Given the description of an element on the screen output the (x, y) to click on. 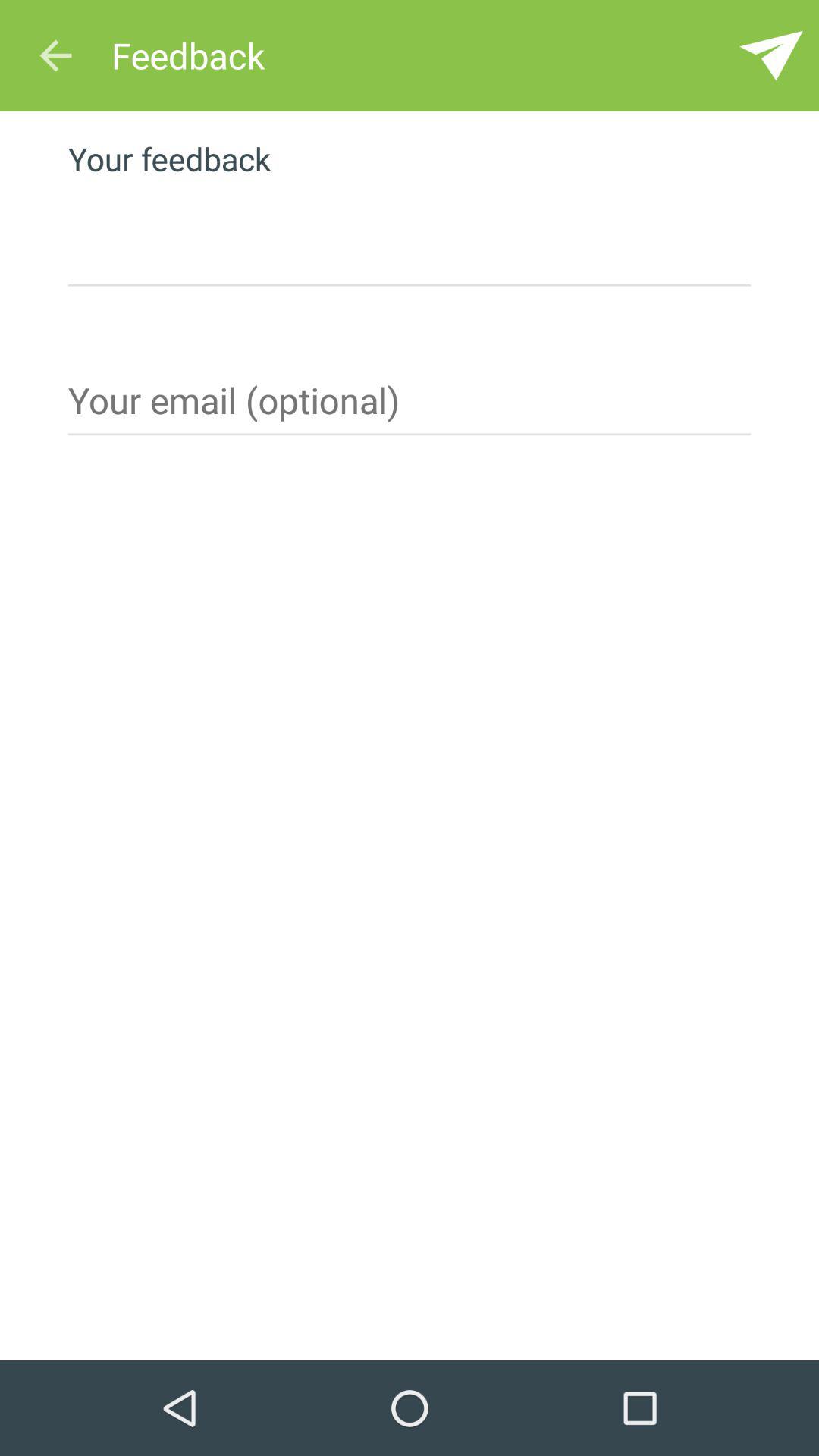
feedback entry space (409, 236)
